Given the description of an element on the screen output the (x, y) to click on. 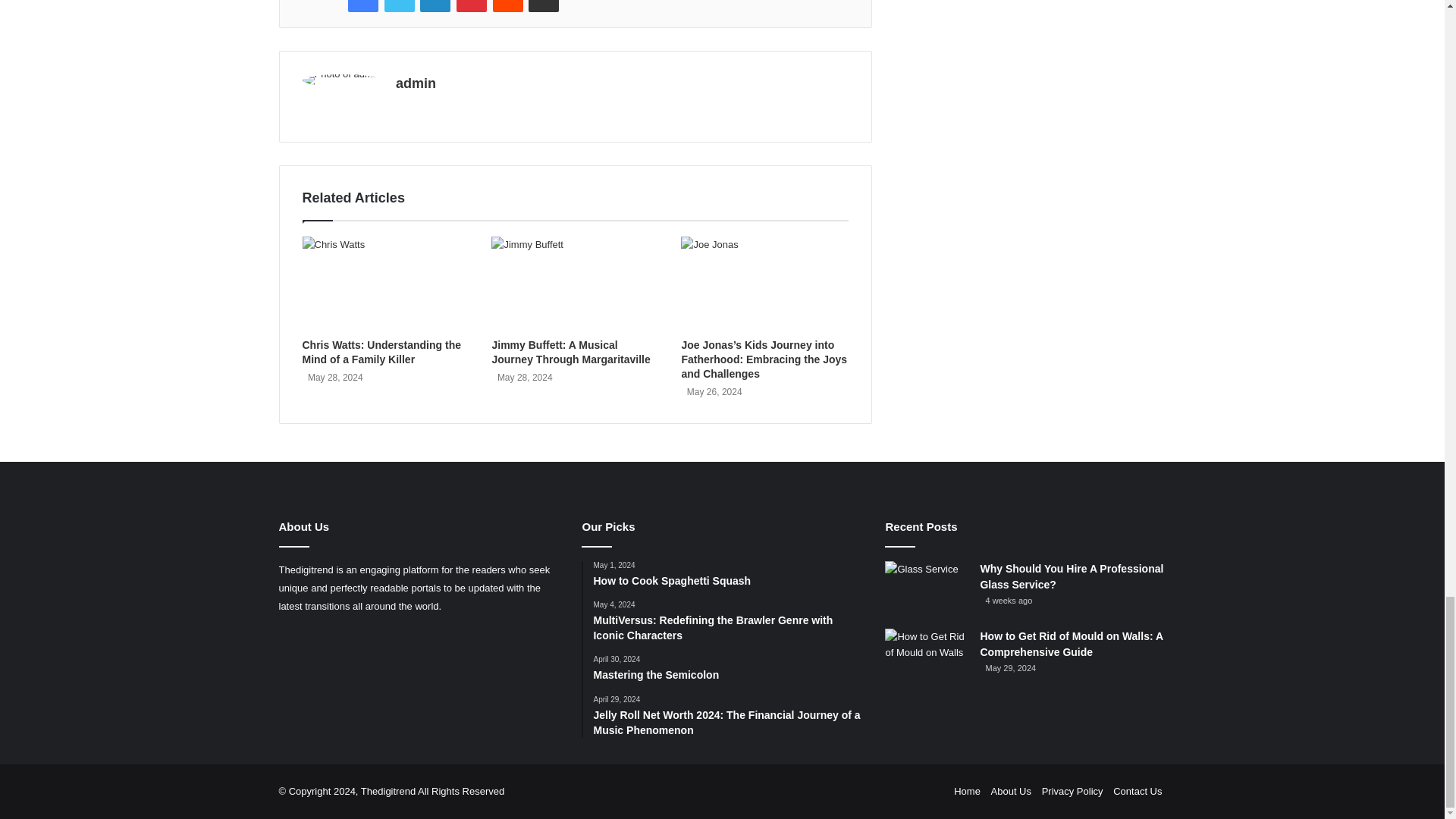
Facebook (362, 6)
Twitter (399, 6)
LinkedIn (434, 6)
